Given the description of an element on the screen output the (x, y) to click on. 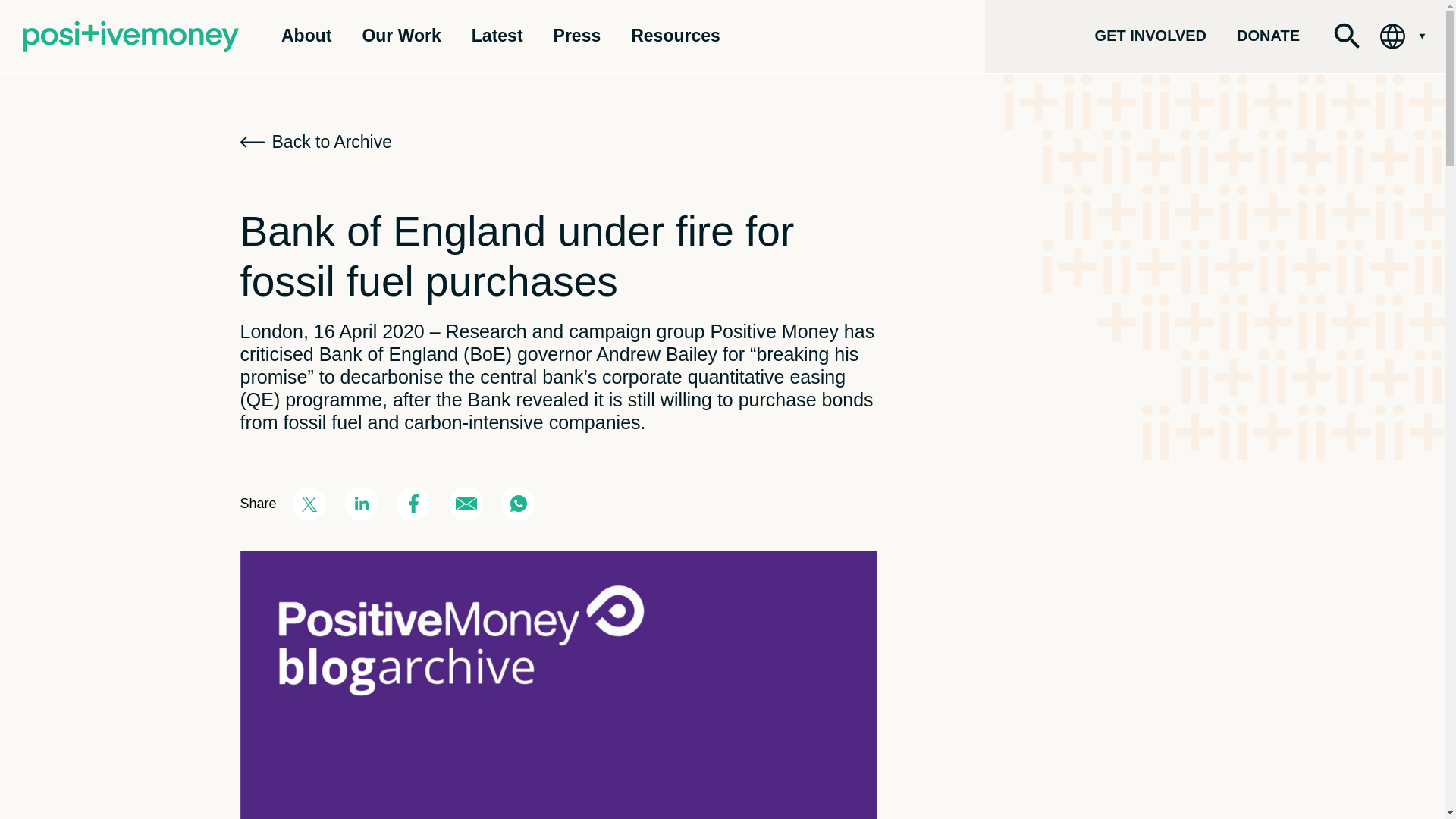
Back to Archive (315, 142)
Our Work (401, 35)
DONATE (1268, 35)
GET INVOLVED (1150, 35)
